Given the description of an element on the screen output the (x, y) to click on. 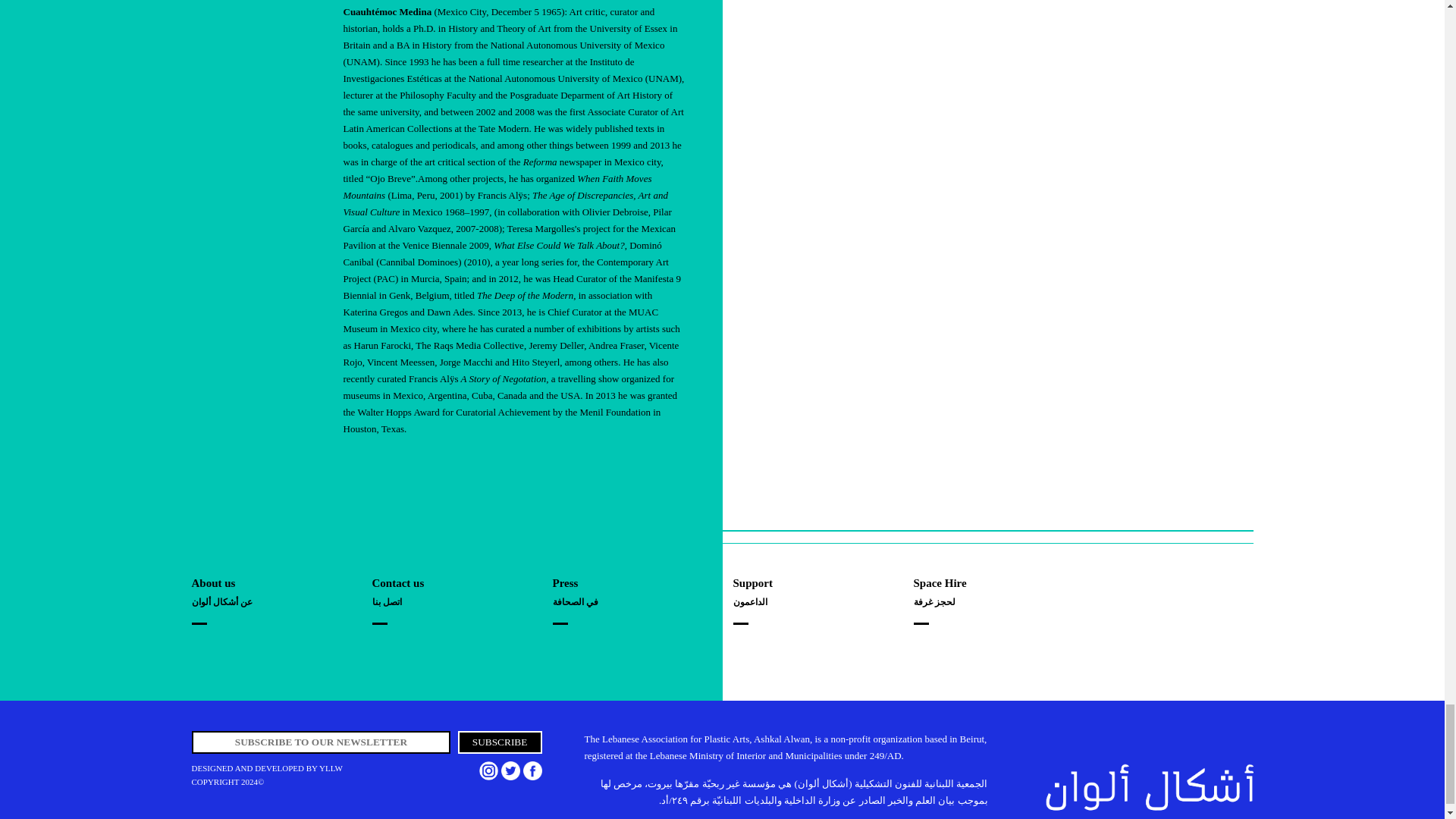
Subscribe (499, 742)
Subscribe (499, 742)
YLLW (330, 768)
